Given the description of an element on the screen output the (x, y) to click on. 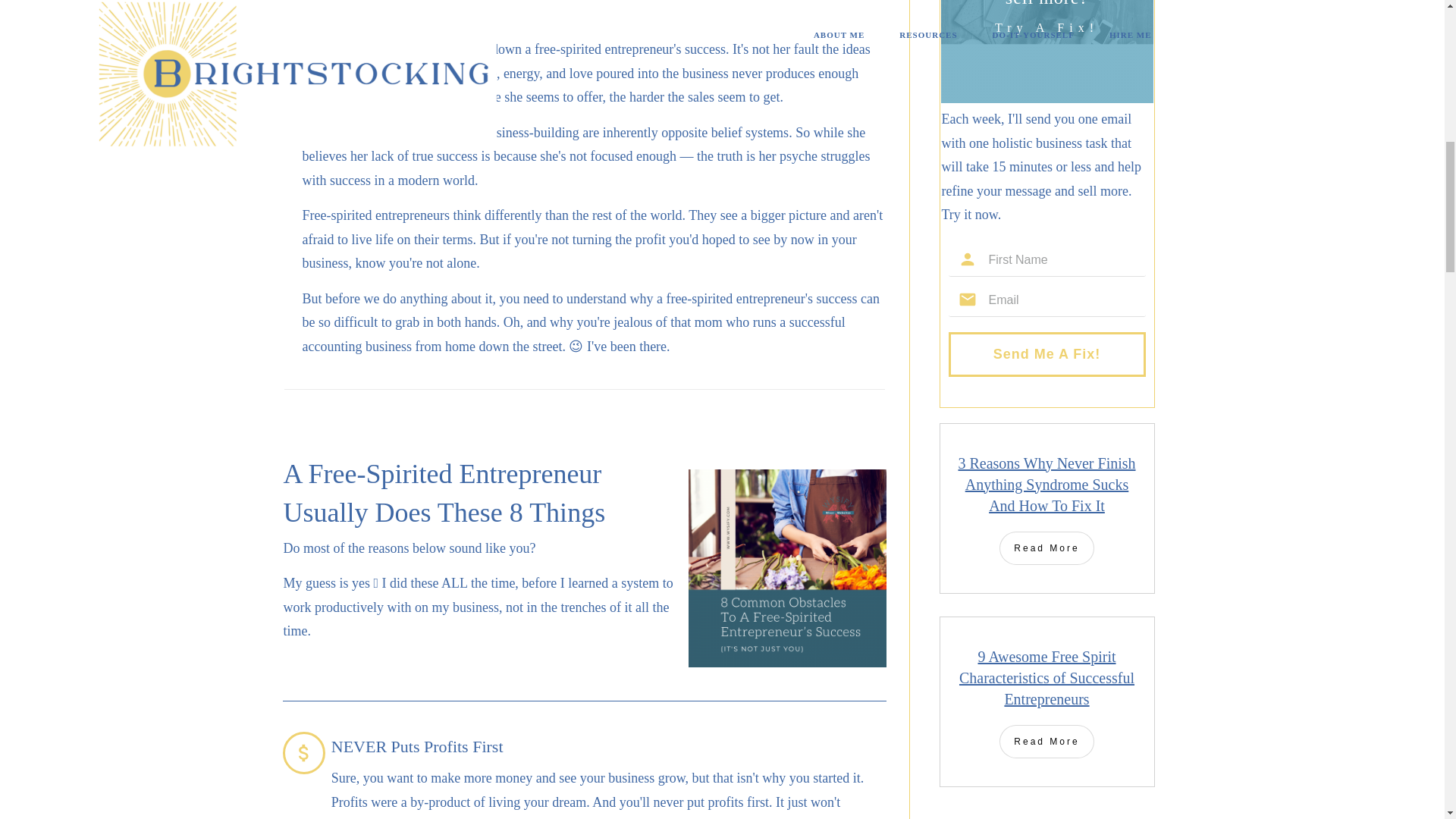
Read More (1045, 548)
Send Me A Fix! (1045, 354)
Read More (1045, 741)
